Given the description of an element on the screen output the (x, y) to click on. 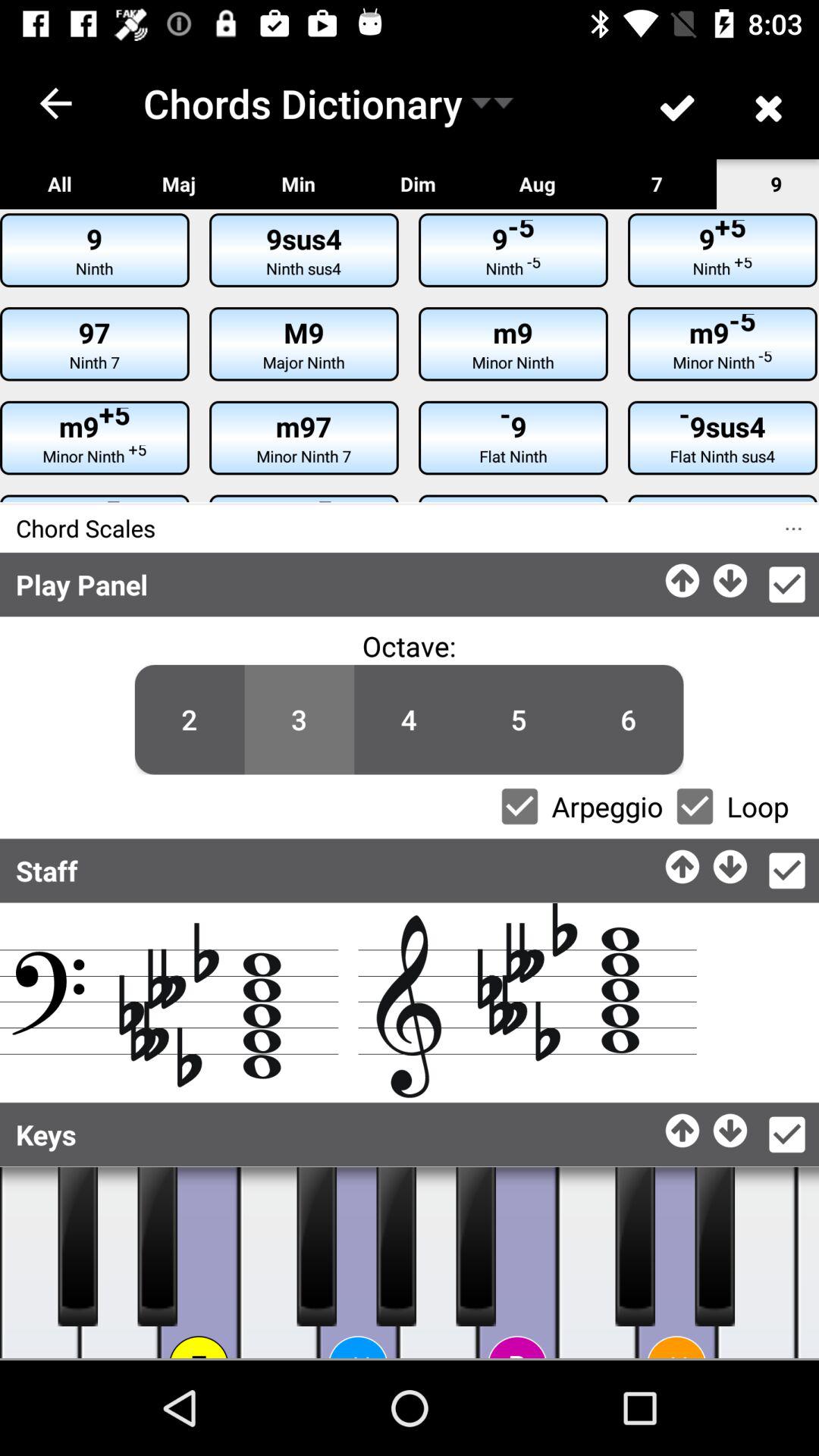
key of a music instrument (437, 1262)
